Given the description of an element on the screen output the (x, y) to click on. 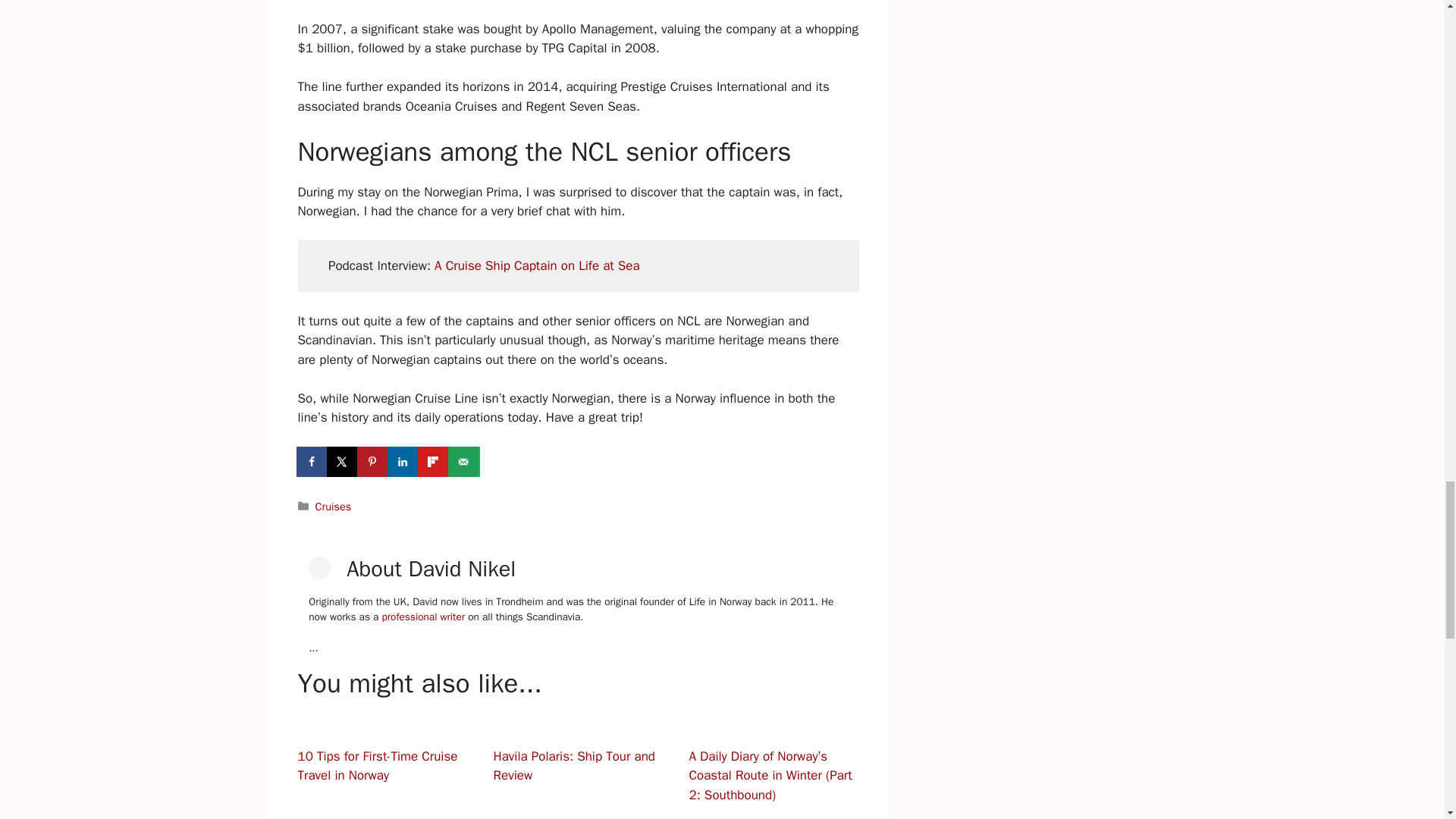
Share on Flipboard (433, 461)
Save to Pinterest (373, 461)
Share on X (342, 461)
Send over email (463, 461)
Share on Facebook (312, 461)
Share on LinkedIn (403, 461)
